Given the description of an element on the screen output the (x, y) to click on. 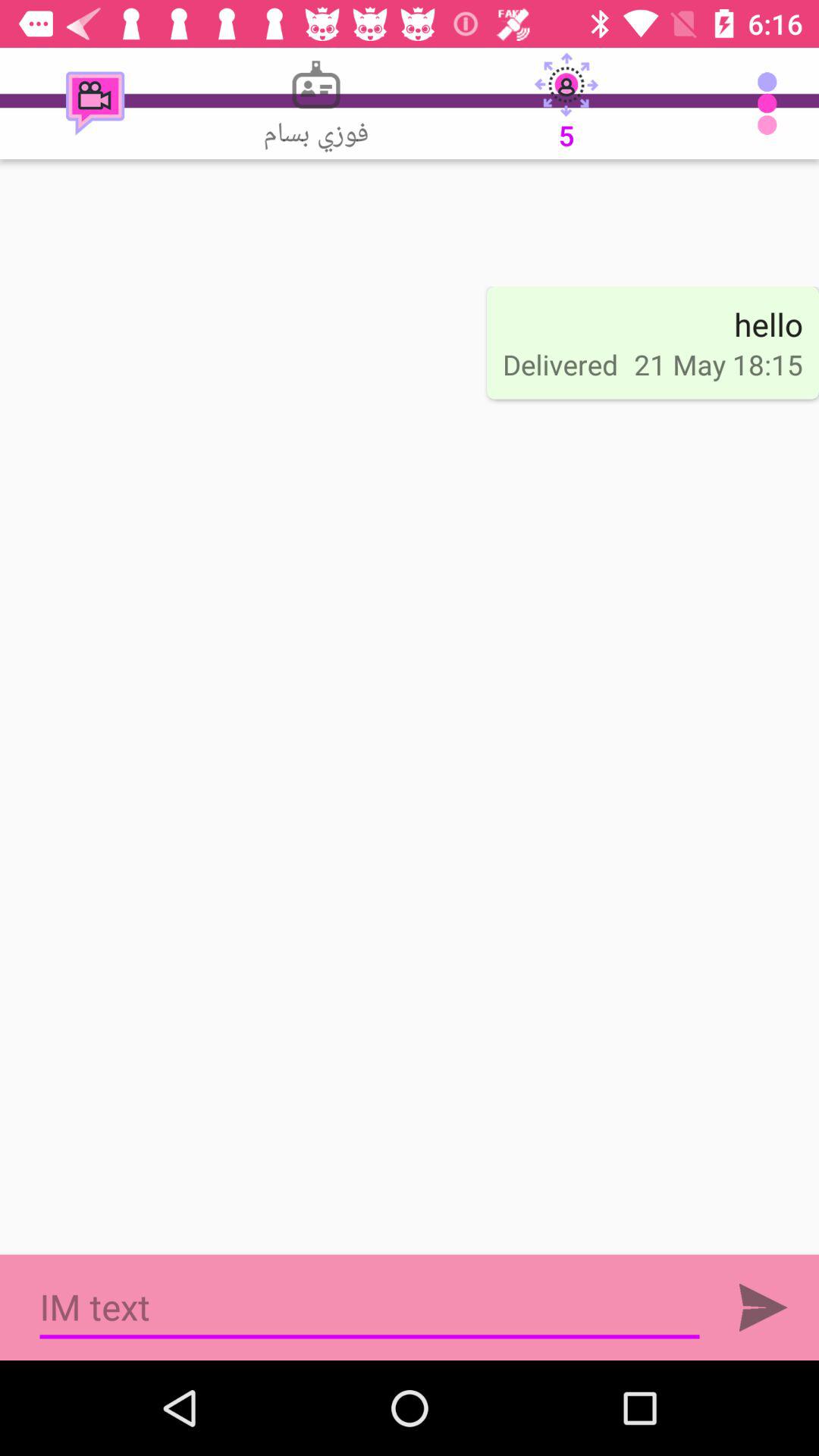
turn on the delivered icon (560, 364)
